Given the description of an element on the screen output the (x, y) to click on. 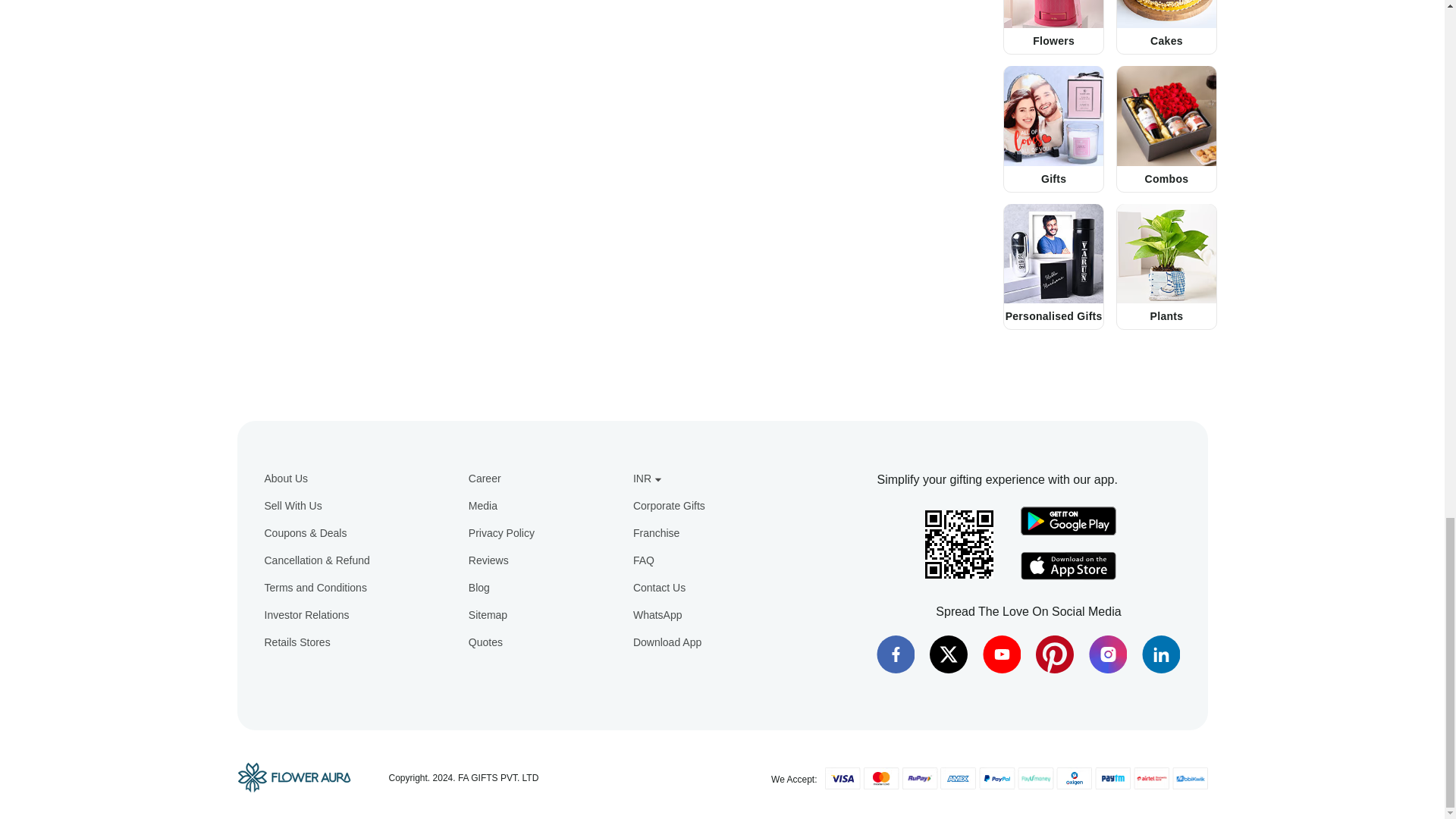
Send Gifts (1053, 115)
Send Flowers Gifts (1053, 13)
Send Personalised Gifts (1053, 253)
Send Combos (1165, 115)
Send Cakes (1165, 13)
Send plants (1165, 253)
